Given the description of an element on the screen output the (x, y) to click on. 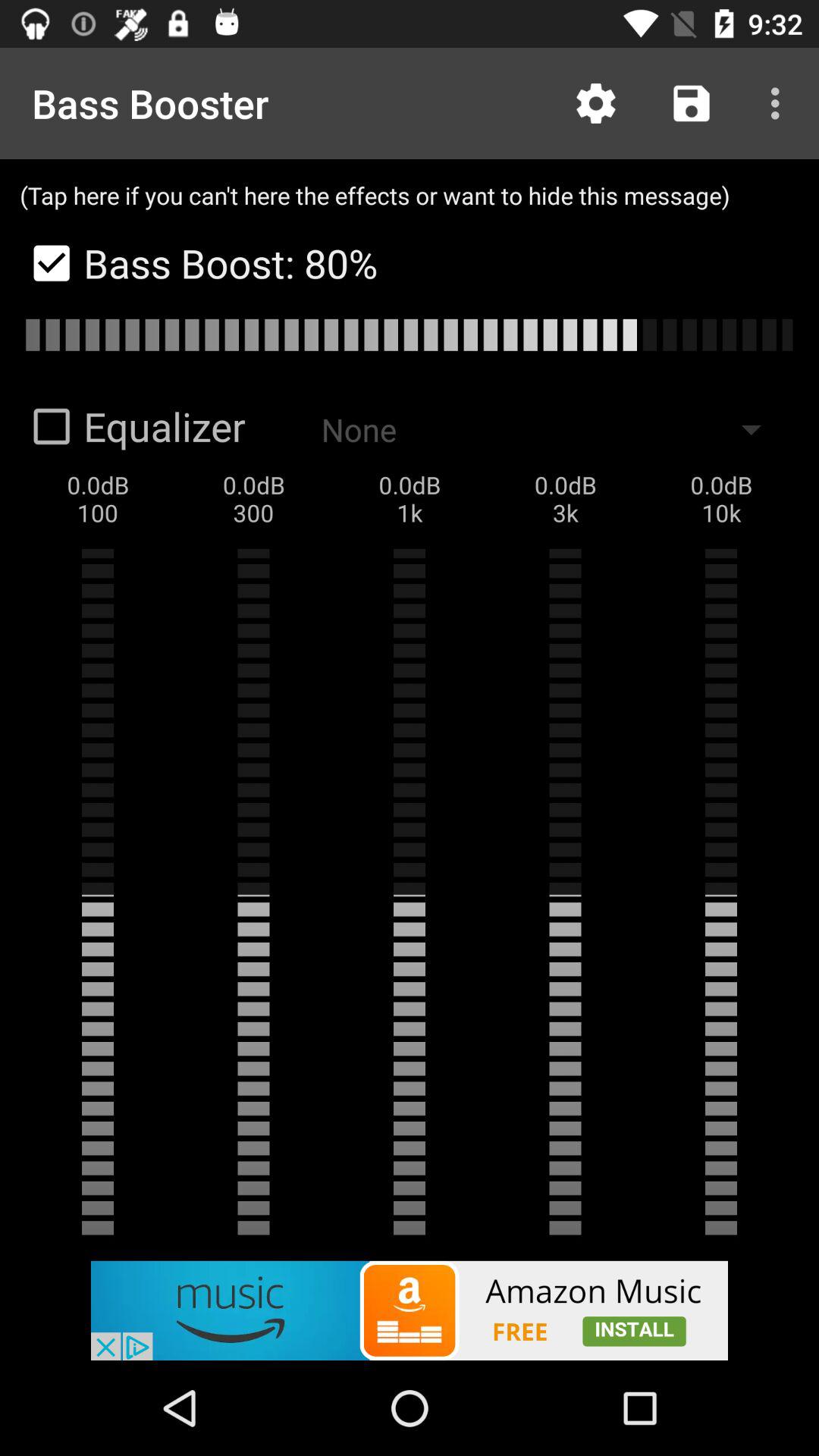
view amazon music (409, 1310)
